Given the description of an element on the screen output the (x, y) to click on. 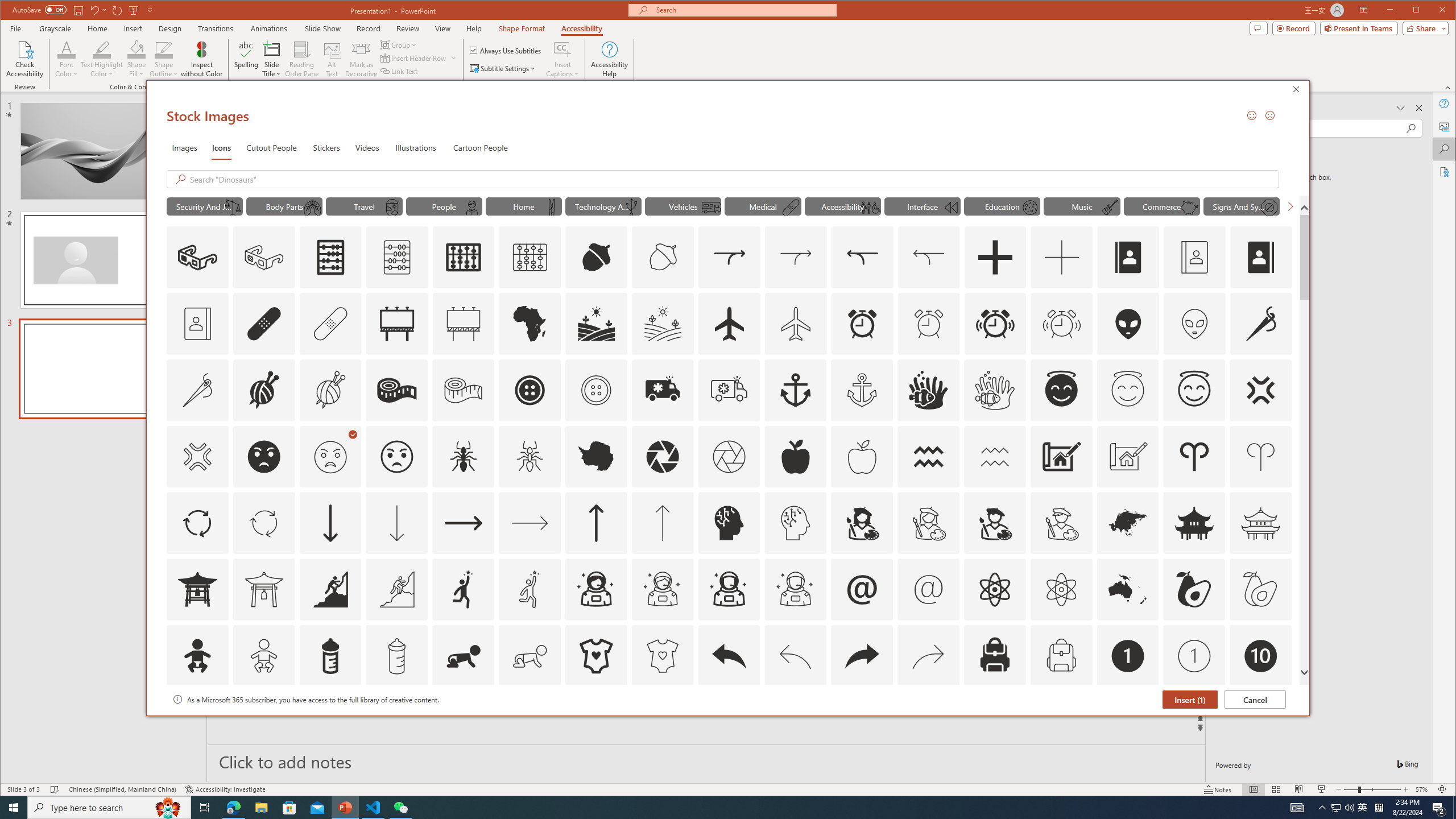
AutomationID: Icons_AngryFace_M (330, 456)
AutomationID: Icons_Ant_M (529, 456)
AutomationID: Icons_Architecture_M (1128, 456)
AutomationID: Icons_Aries_M (1260, 456)
